Given the description of an element on the screen output the (x, y) to click on. 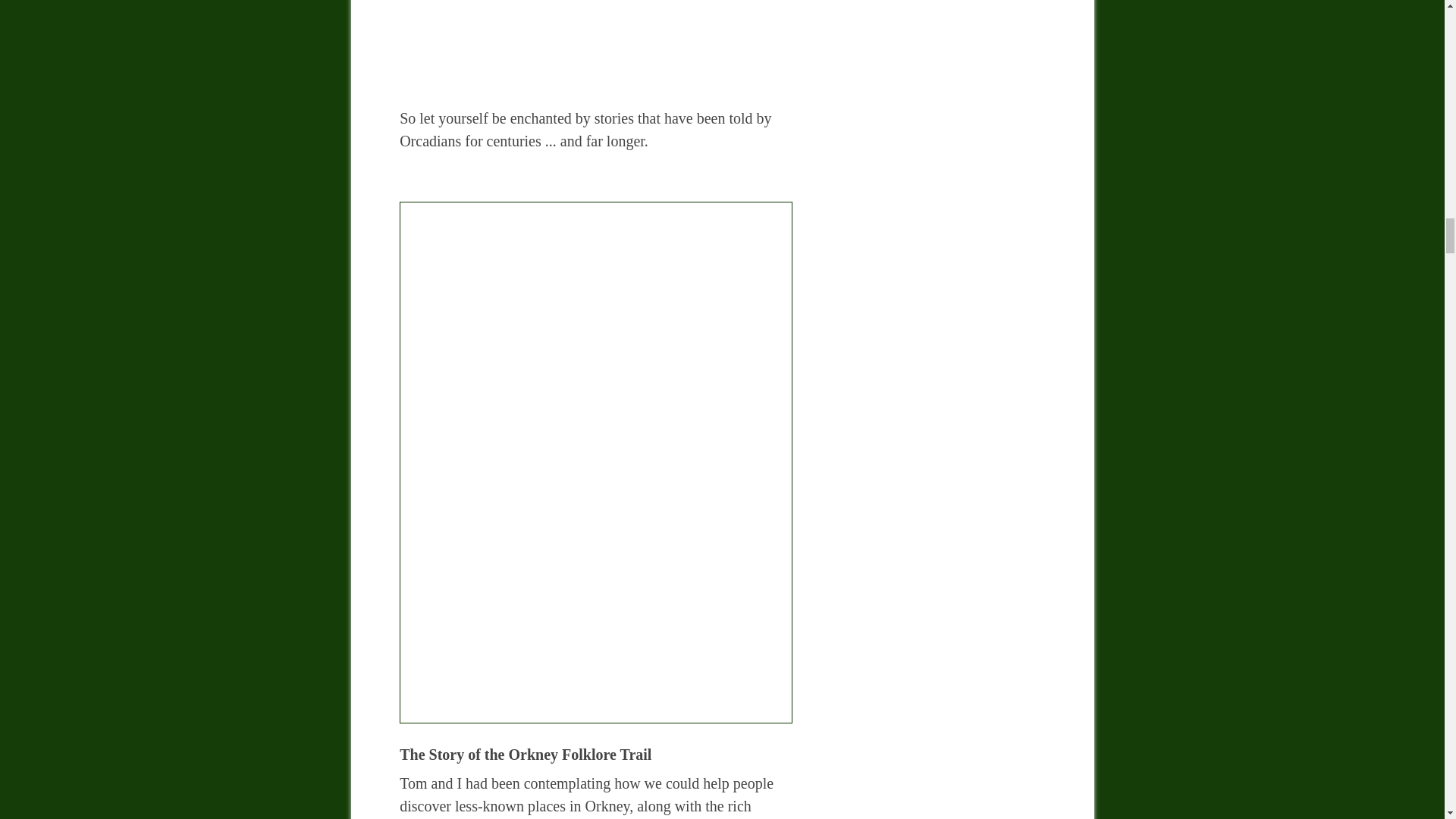
Helpful tips at each story point (595, 29)
